Given the description of an element on the screen output the (x, y) to click on. 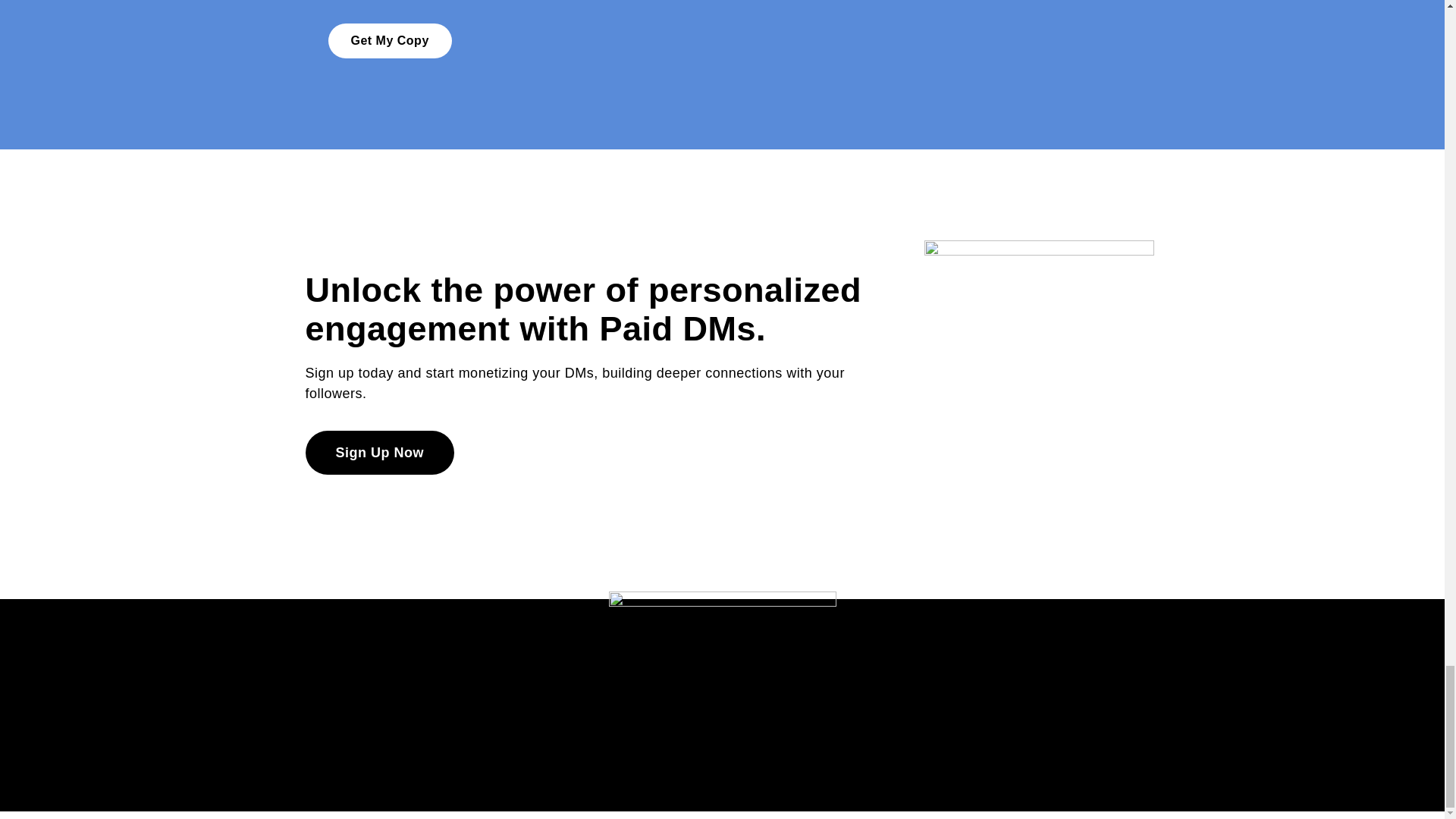
Sign Up Now (379, 452)
Get My Copy (389, 40)
